Given the description of an element on the screen output the (x, y) to click on. 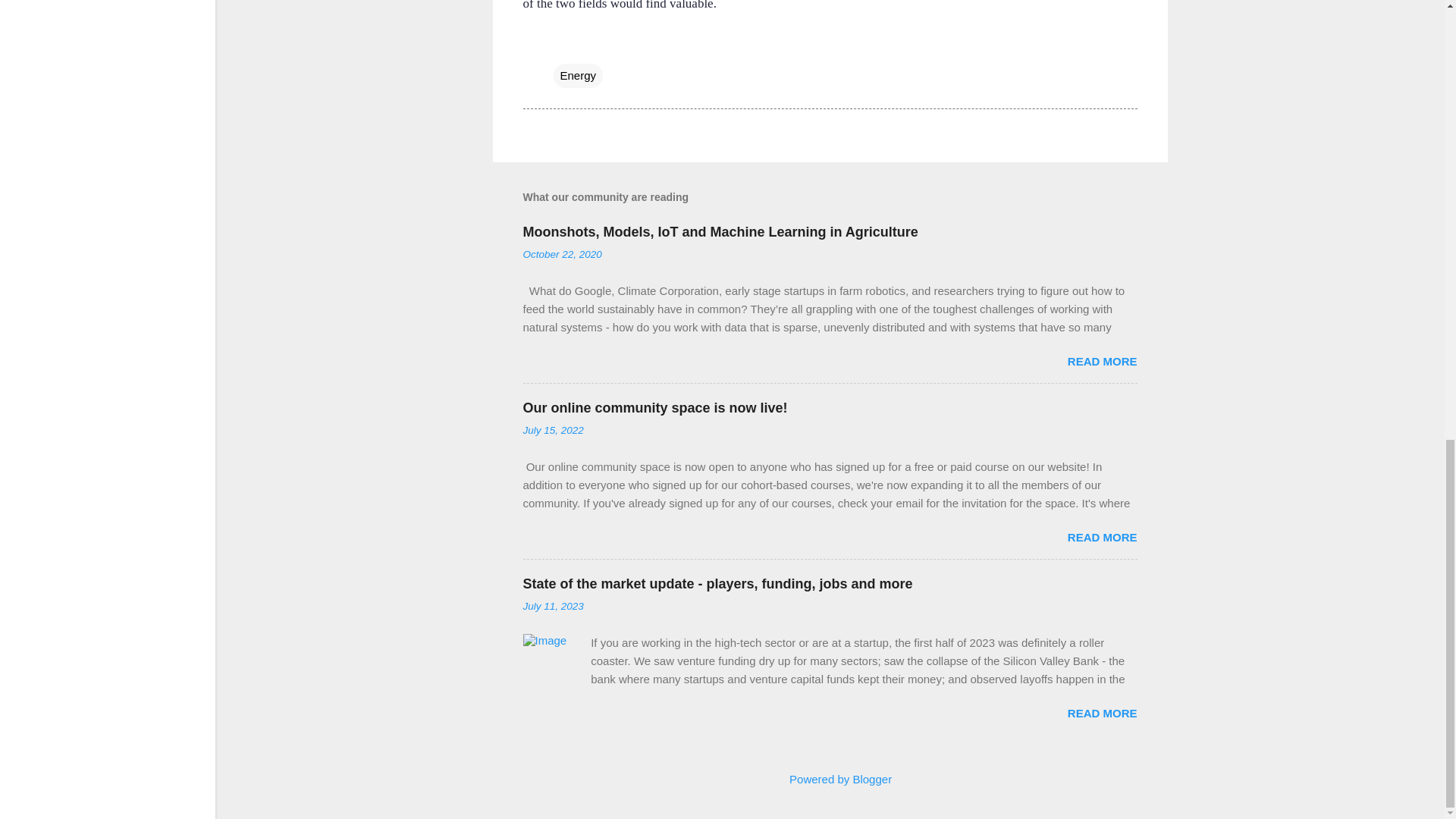
State of the market update - players, funding, jobs and more (717, 583)
READ MORE (1102, 360)
Energy (578, 75)
READ MORE (1102, 536)
July 15, 2022 (552, 430)
Moonshots, Models, IoT and Machine Learning in Agriculture (720, 231)
October 22, 2020 (562, 254)
READ MORE (1102, 712)
permanent link (562, 254)
Powered by Blogger (829, 779)
